Given the description of an element on the screen output the (x, y) to click on. 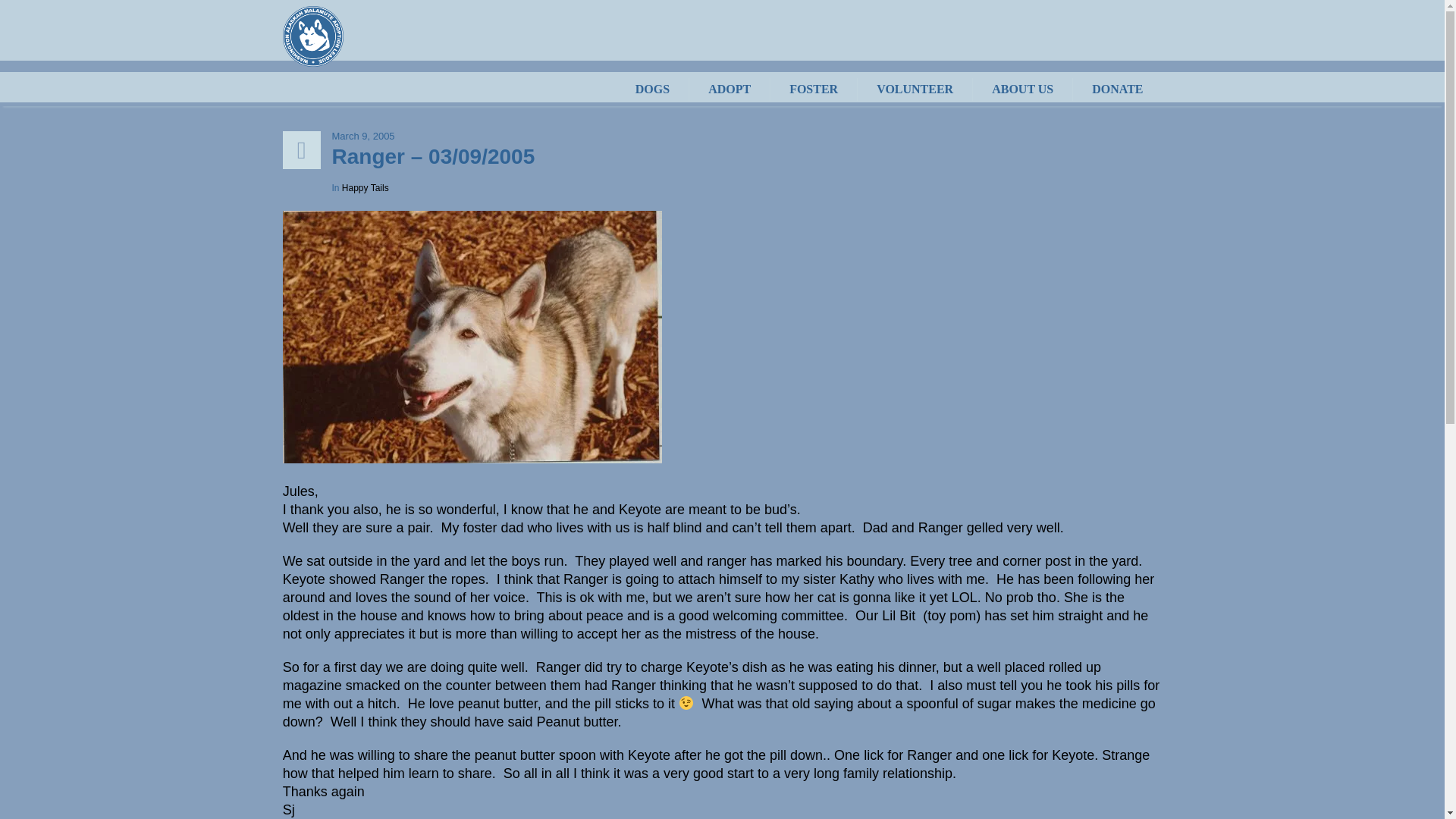
Volunteer Info (850, 646)
Happy Tails (365, 187)
YouTube (775, 704)
DONATE (1116, 89)
FOSTER (813, 89)
Instagram (725, 704)
ADOPT (729, 89)
Foster Info (753, 646)
Washington Alaskan Malamute Adoption League (722, 545)
Available Dogs (520, 646)
Adoption Process (643, 646)
About Us (942, 646)
VOLUNTEER (914, 89)
March 9, 2005 (746, 136)
ABOUT US (1021, 89)
